Given the description of an element on the screen output the (x, y) to click on. 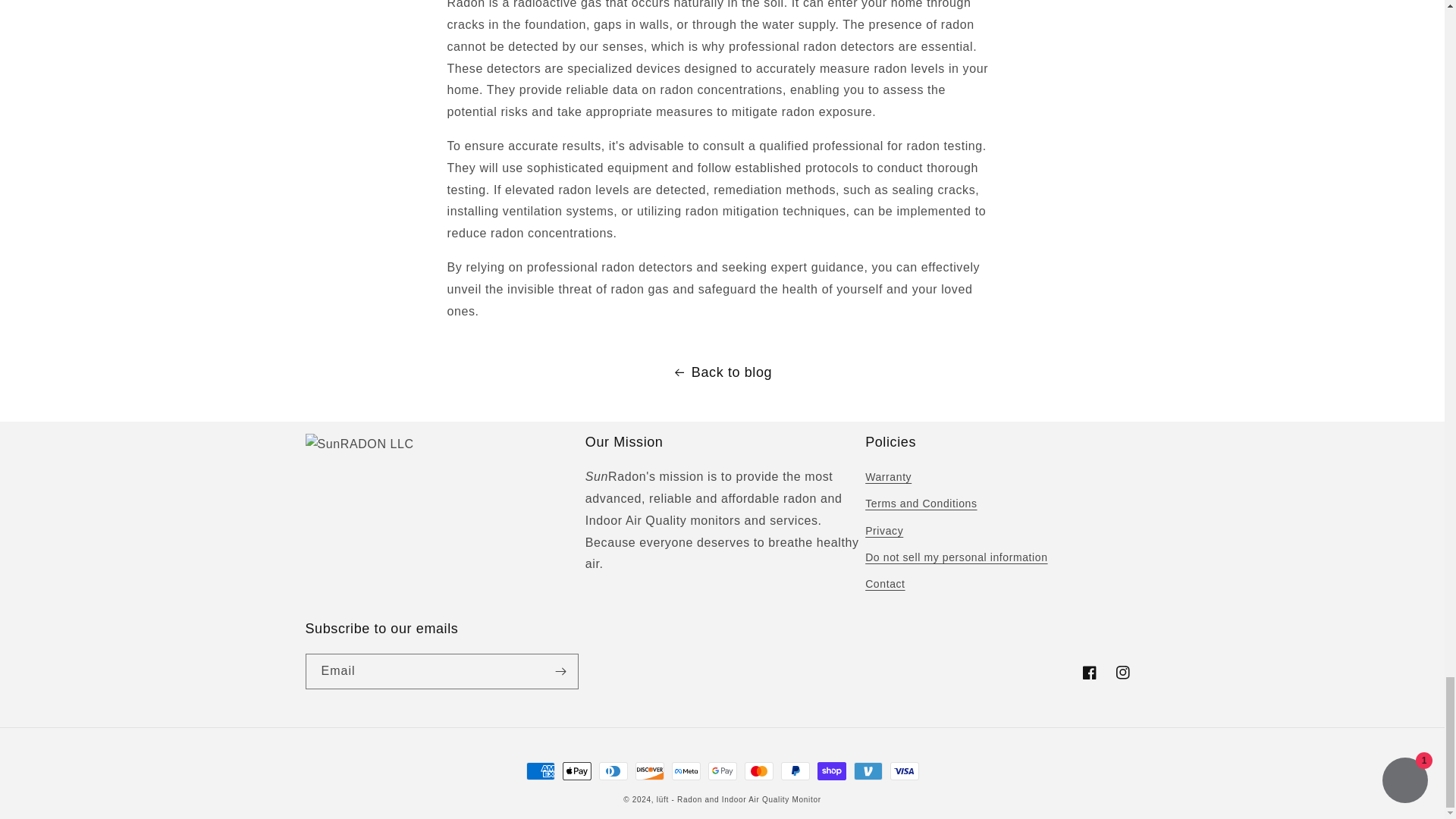
Privacy (883, 530)
Terms and Conditions (920, 503)
Instagram (1121, 672)
Do not sell my personal information (955, 557)
Warranty (887, 478)
Contact (884, 583)
Facebook (1088, 672)
